Given the description of an element on the screen output the (x, y) to click on. 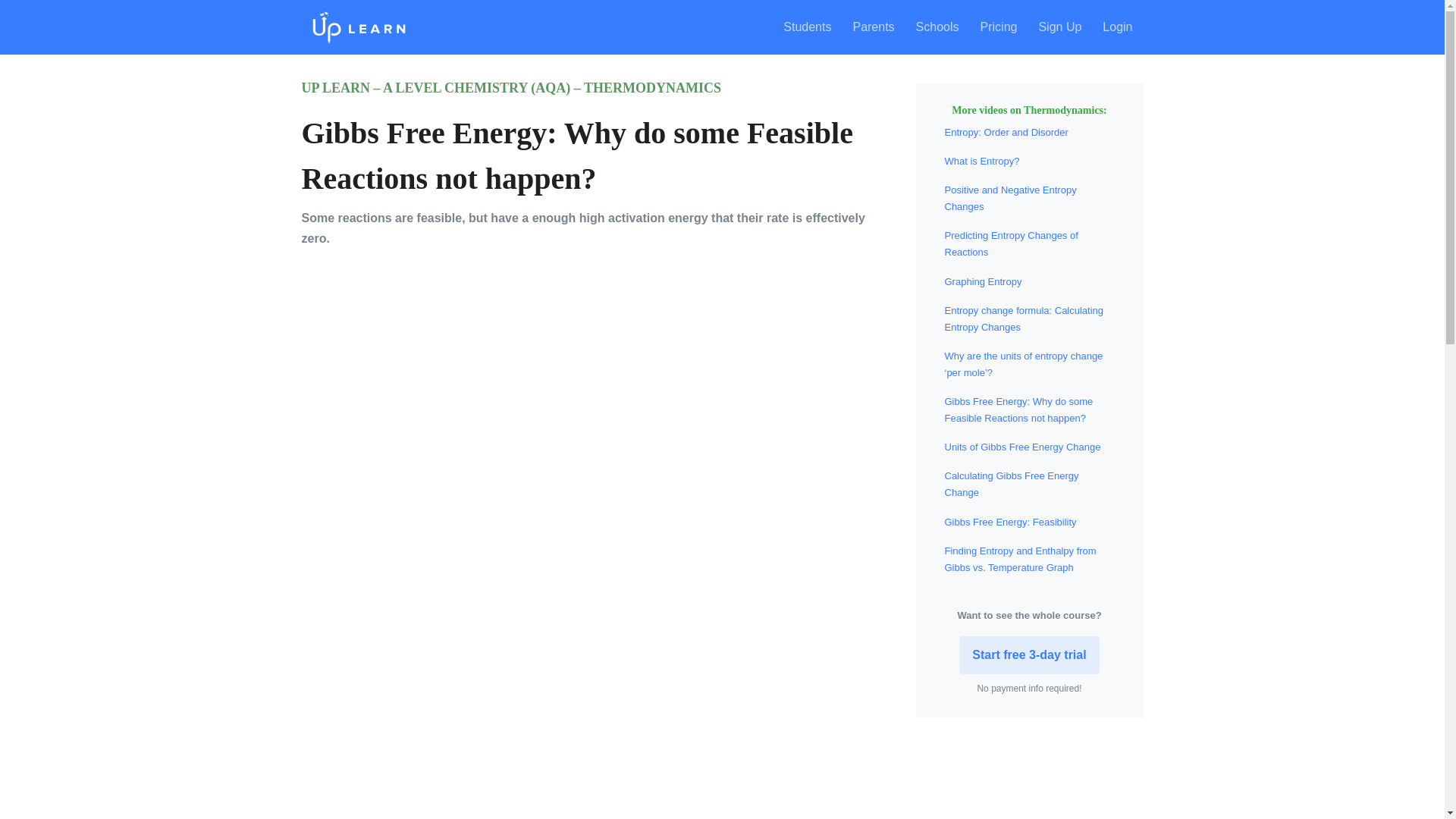
Start free 3-day trial (1029, 655)
Gibbs Free Energy: Feasibility (1010, 521)
Parents (872, 27)
Pricing (998, 27)
Parents (872, 27)
Students (812, 27)
Entropy change formula: Calculating Entropy Changes (1023, 318)
Units of Gibbs Free Energy Change (1022, 446)
Sign Up (1059, 27)
Login (1117, 27)
Predicting Entropy Changes of Reactions (1011, 243)
Calculating Gibbs Free Energy Change (1011, 483)
Login (1117, 27)
Graphing Entropy (983, 281)
Students (812, 27)
